Given the description of an element on the screen output the (x, y) to click on. 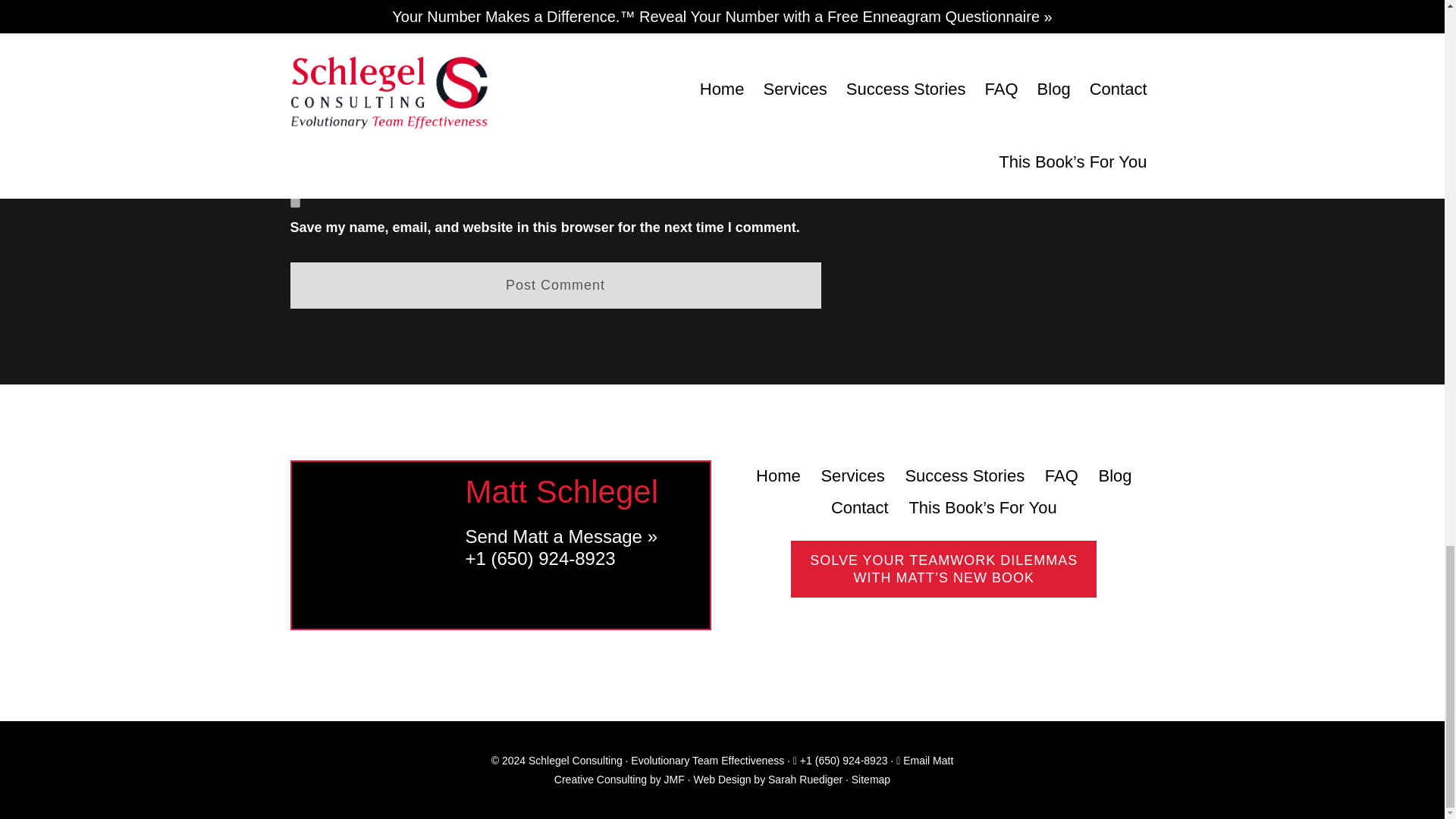
Post Comment (555, 285)
Services (851, 476)
Post Comment (555, 285)
Success Stories (964, 476)
yes (294, 203)
Home (778, 476)
